Given the description of an element on the screen output the (x, y) to click on. 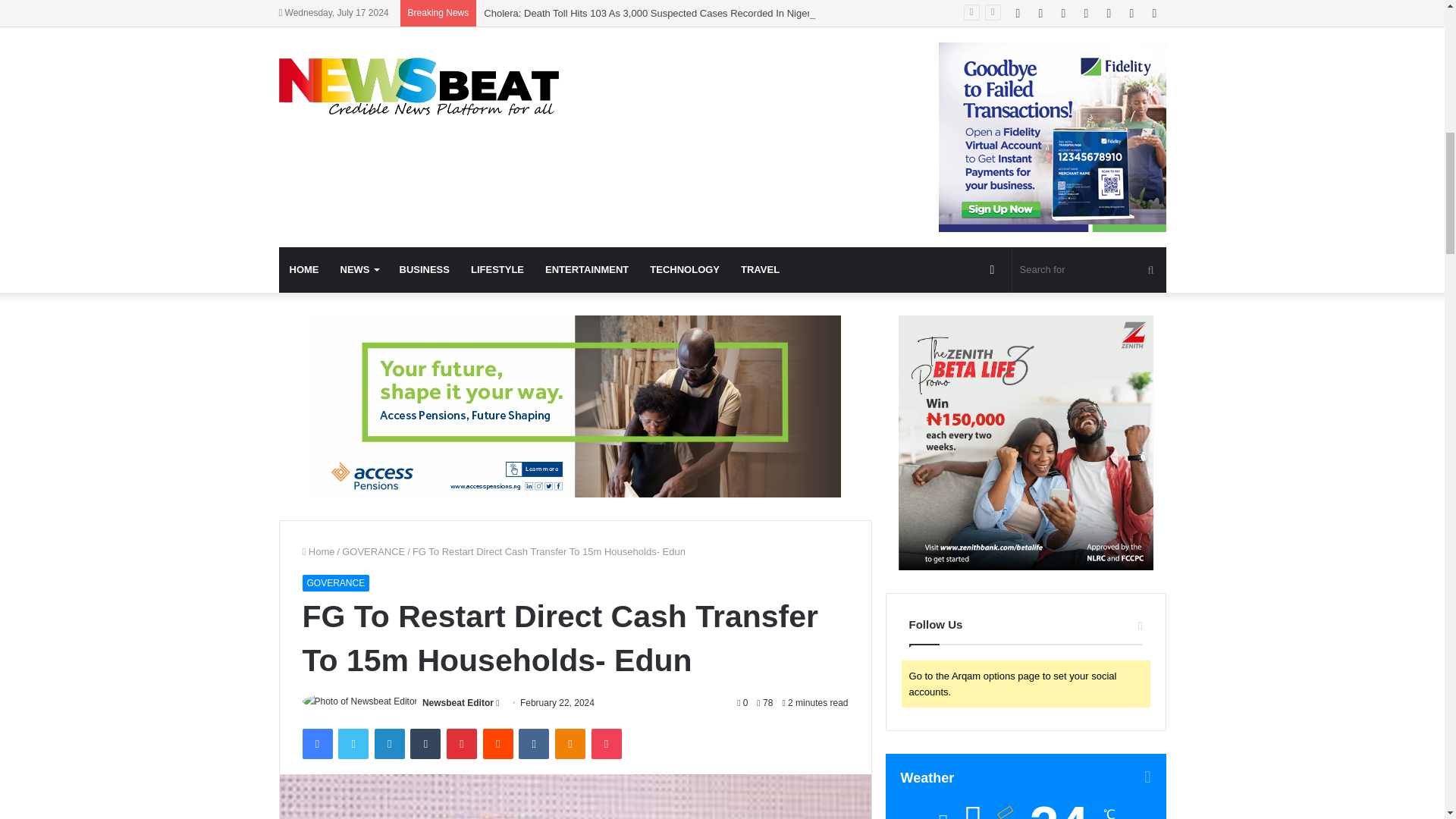
NEWS (358, 269)
Sidebar (1154, 13)
Search for (1088, 269)
TECHNOLOGY (684, 269)
Pinterest (461, 743)
LinkedIn (389, 743)
Home (317, 551)
Odnoklassniki (569, 743)
Random Article (1131, 13)
Newsbeat Editor (457, 702)
Random Article (992, 269)
GOVERANCE (373, 551)
VKontakte (533, 743)
TRAVEL (760, 269)
